Given the description of an element on the screen output the (x, y) to click on. 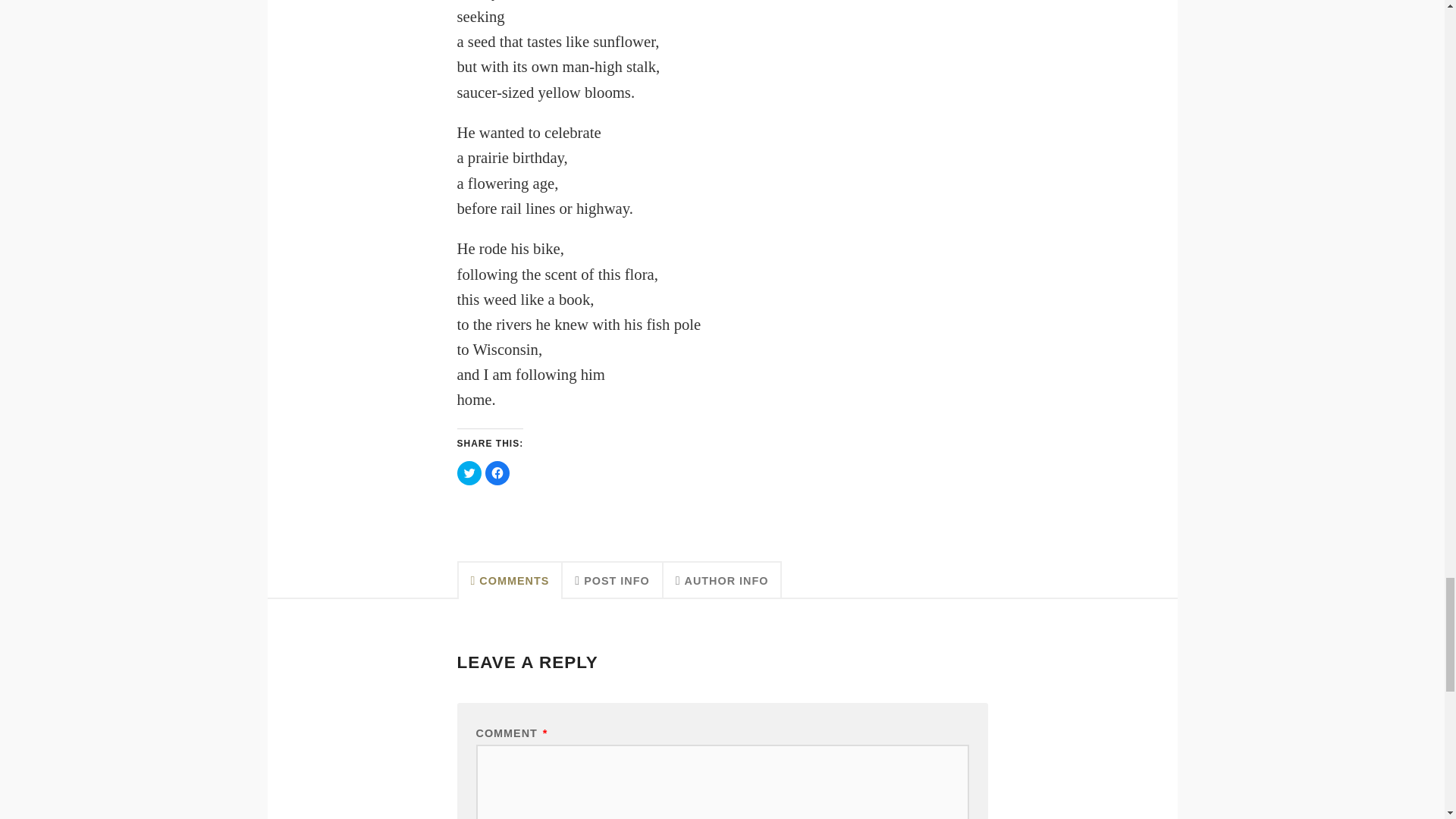
COMMENTS (509, 579)
POST INFO (612, 579)
Click to share on Facebook (496, 473)
Click to share on Twitter (468, 473)
AUTHOR INFO (723, 579)
